Given the description of an element on the screen output the (x, y) to click on. 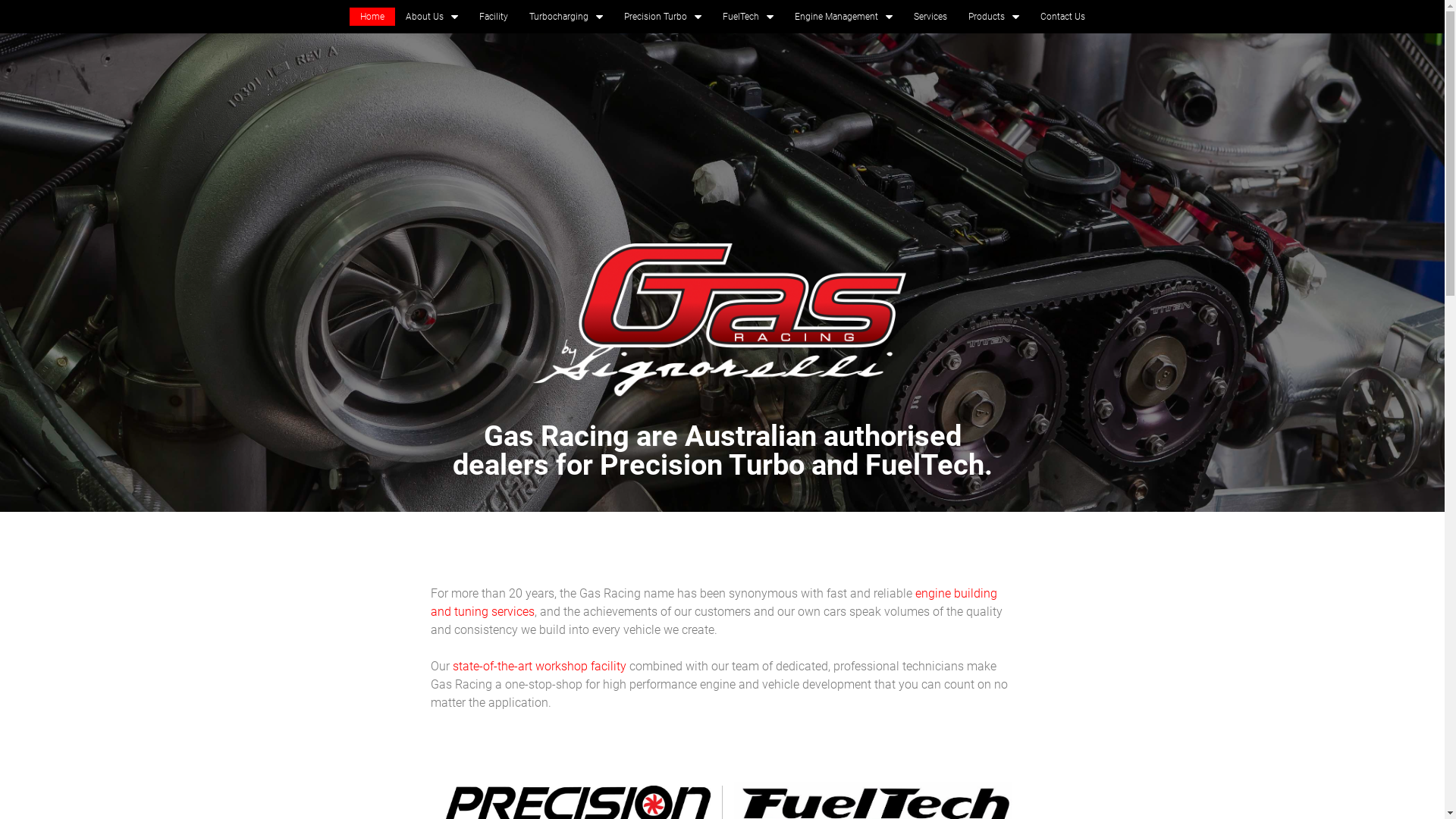
Engine Management Element type: text (843, 16)
Products Element type: text (993, 16)
Facility Element type: text (493, 16)
Home Element type: text (371, 16)
FuelTech Element type: text (747, 16)
Contact Us Element type: text (1062, 16)
engine building and tuning services Element type: text (713, 602)
Precision Turbo Element type: text (661, 16)
state-of-the-art workshop facility Element type: text (538, 665)
Turbocharging Element type: text (565, 16)
About Us Element type: text (430, 16)
Services Element type: text (929, 16)
